Given the description of an element on the screen output the (x, y) to click on. 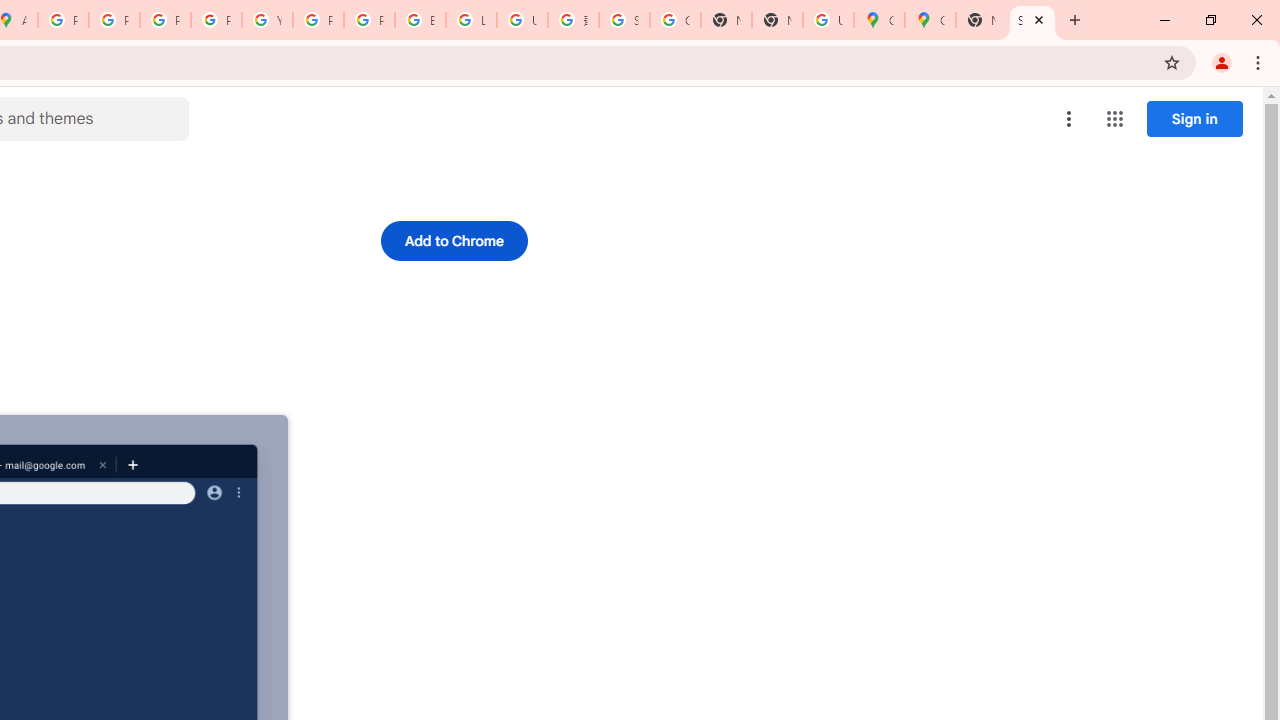
New Tab (776, 20)
Privacy Help Center - Policies Help (113, 20)
YouTube (267, 20)
Policy Accountability and Transparency - Transparency Center (63, 20)
Slate - Chrome Web Store (1032, 20)
